Given the description of an element on the screen output the (x, y) to click on. 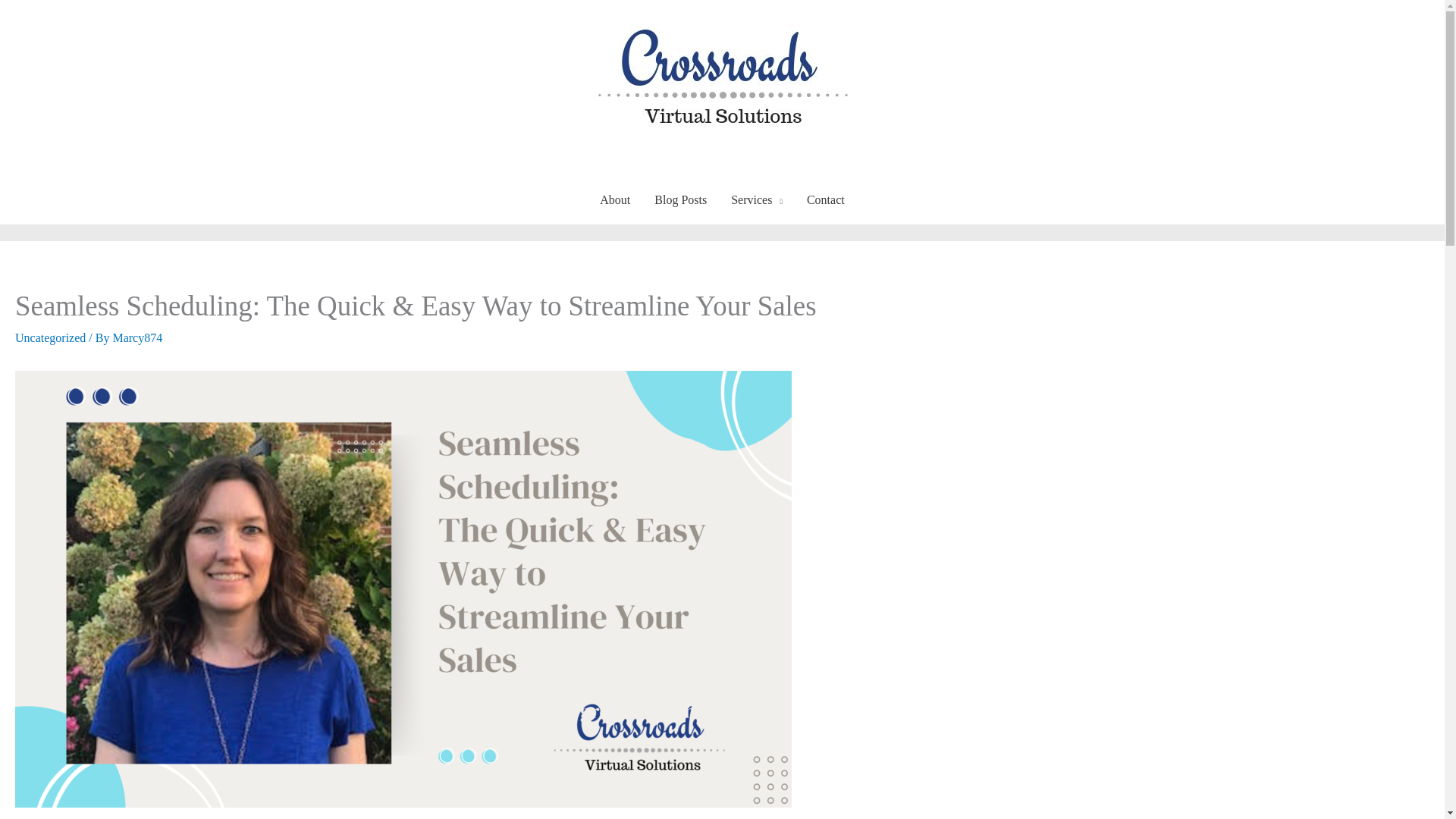
Services (756, 200)
About (615, 200)
Marcy874 (136, 337)
Blog Posts (680, 200)
Contact (825, 200)
View all posts by Marcy874 (136, 337)
Uncategorized (49, 337)
